Given the description of an element on the screen output the (x, y) to click on. 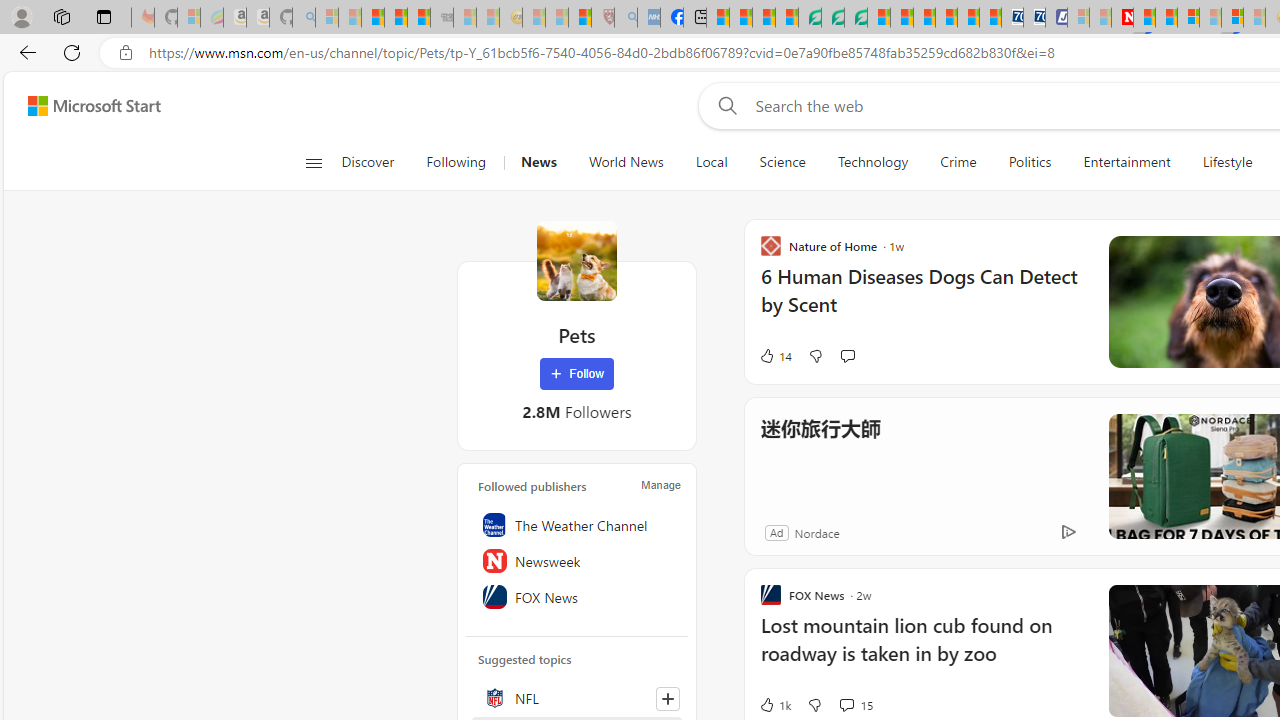
Combat Siege (442, 17)
NFL (577, 697)
Technology (872, 162)
1k Like (774, 704)
Terms of Use Agreement (832, 17)
World News (625, 162)
Crime (958, 162)
6 Human Diseases Dogs Can Detect by Scent (922, 300)
Local (711, 162)
Technology (872, 162)
View site information (125, 53)
Cheap Hotels - Save70.com (1034, 17)
